Given the description of an element on the screen output the (x, y) to click on. 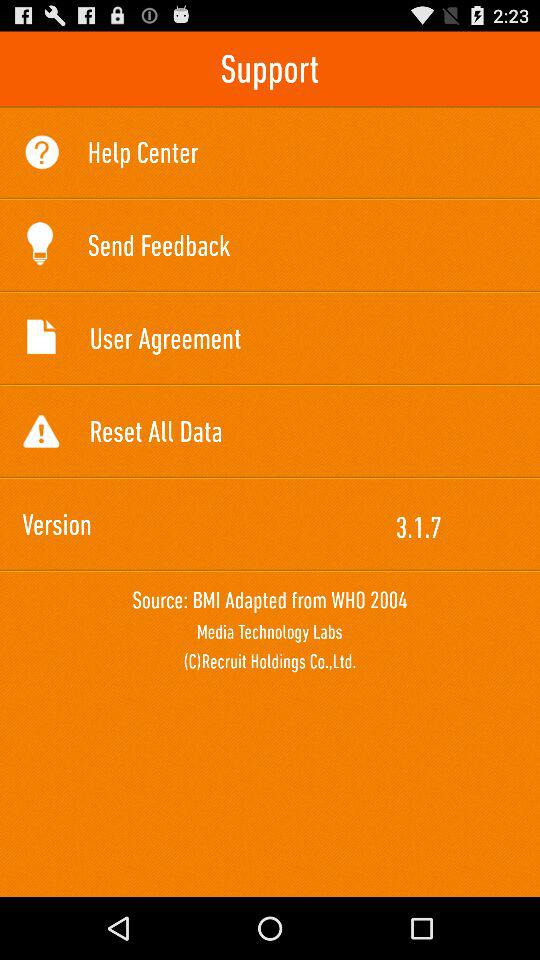
click on the user agreement icon (40, 336)
